Given the description of an element on the screen output the (x, y) to click on. 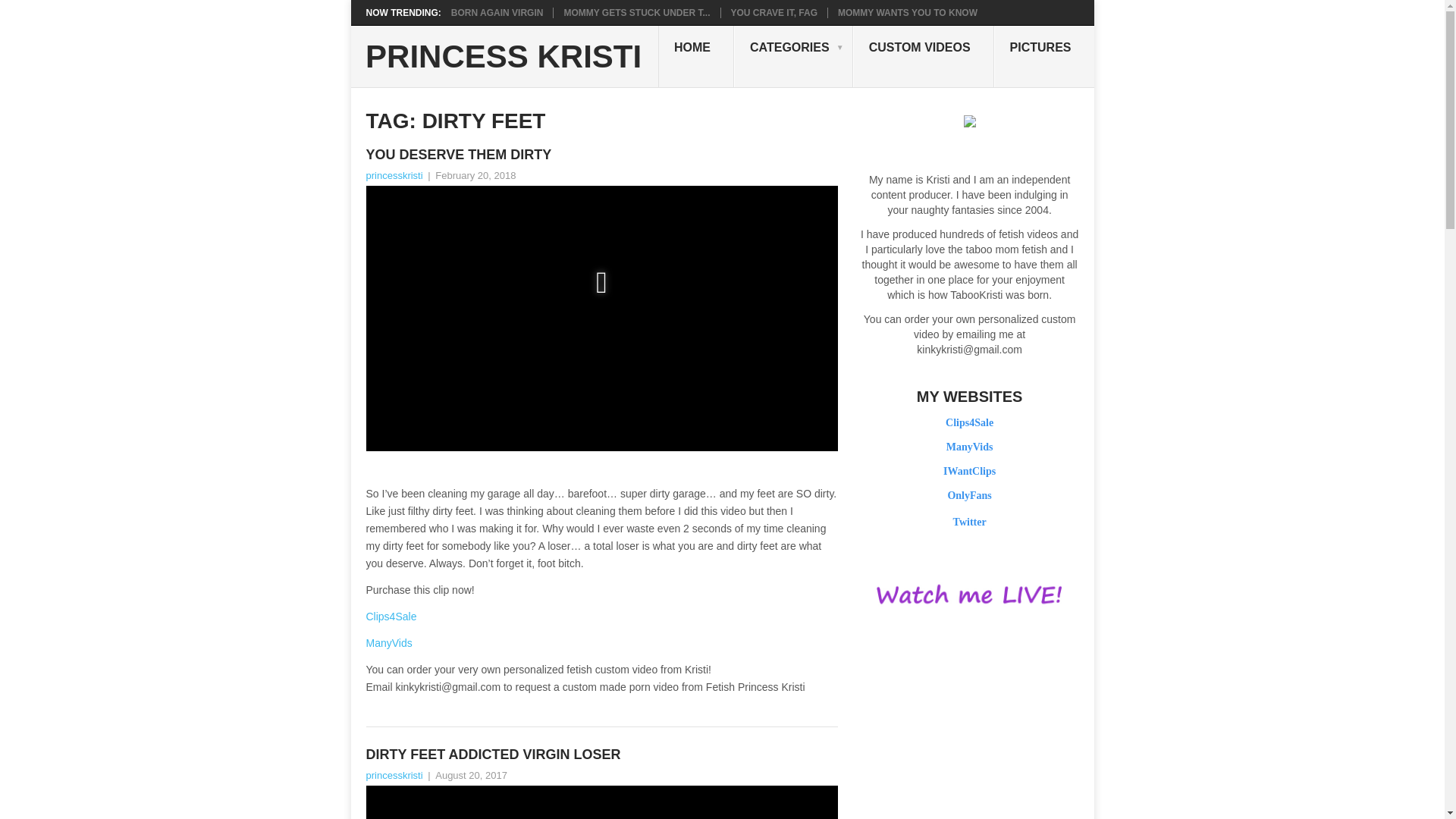
You Crave It, Fag (773, 12)
MOMMY GETS STUCK UNDER T... (636, 12)
BORN AGAIN VIRGIN (497, 12)
MOMMY WANTS YOU TO KNOW (907, 12)
Posts by princesskristi (393, 174)
HOME (695, 56)
PRINCESS KRISTI (503, 56)
Mommy Gets Stuck Under the Bed (636, 12)
YOU CRAVE IT, FAG (773, 12)
You Deserve Them Dirty (601, 154)
